Given the description of an element on the screen output the (x, y) to click on. 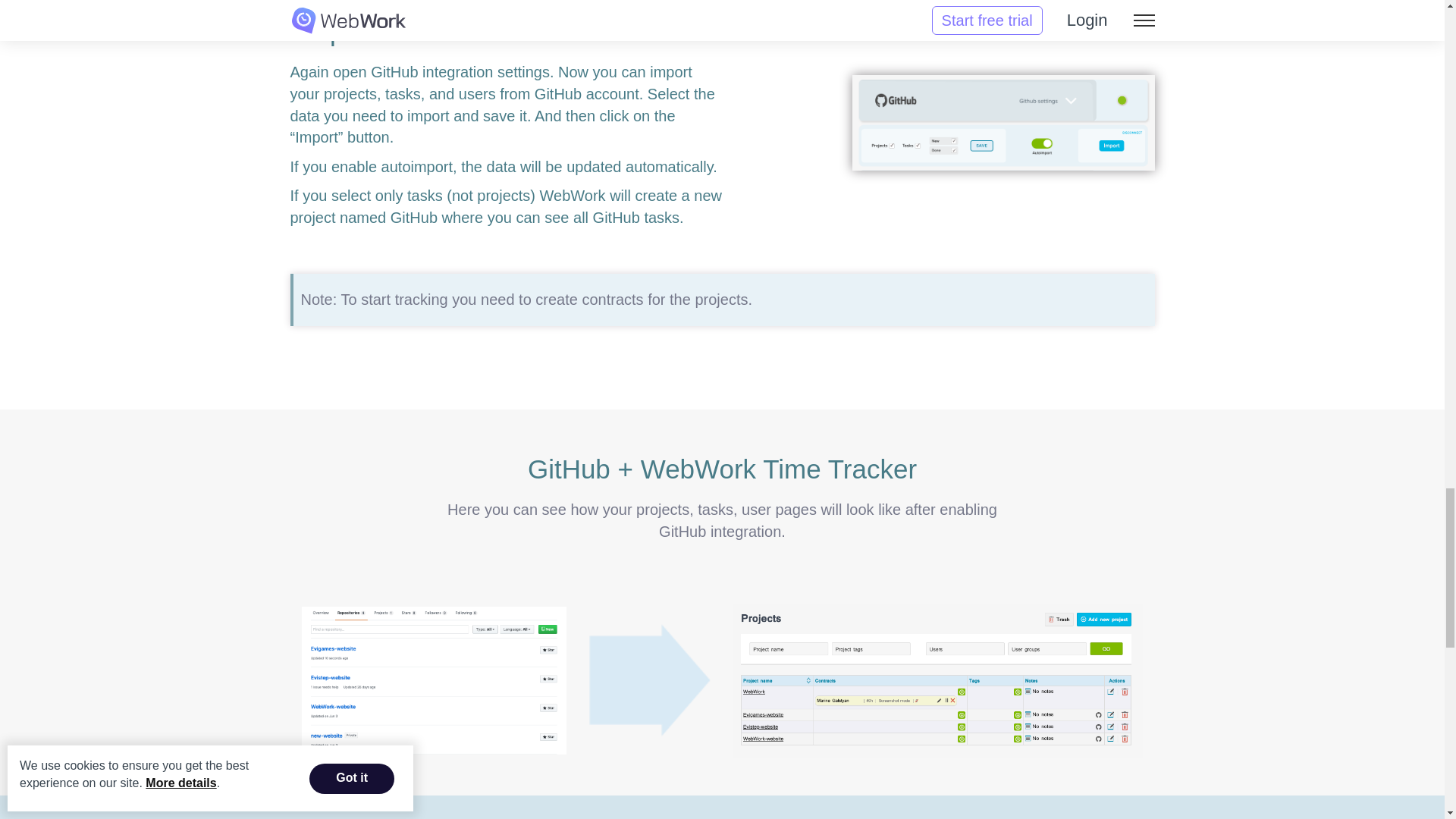
Track time on GitHub projects and tasks (1002, 123)
